Given the description of an element on the screen output the (x, y) to click on. 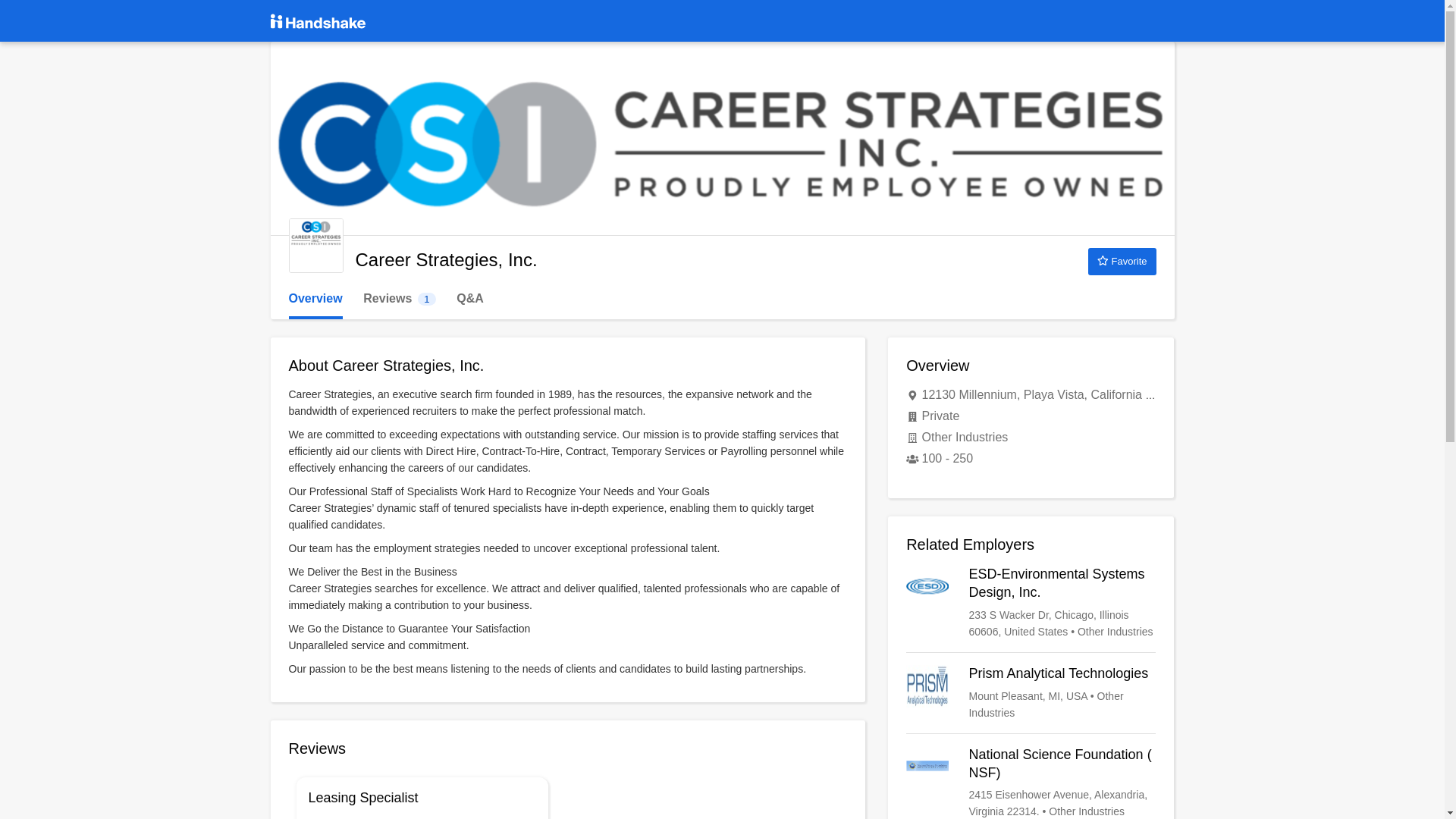
Career Strategies, Inc. (398, 298)
Prism Analytical Technologies (315, 245)
Favorite (1030, 693)
ESD-Environmental Systems Design, Inc. (1121, 261)
Overview (1030, 602)
